Given the description of an element on the screen output the (x, y) to click on. 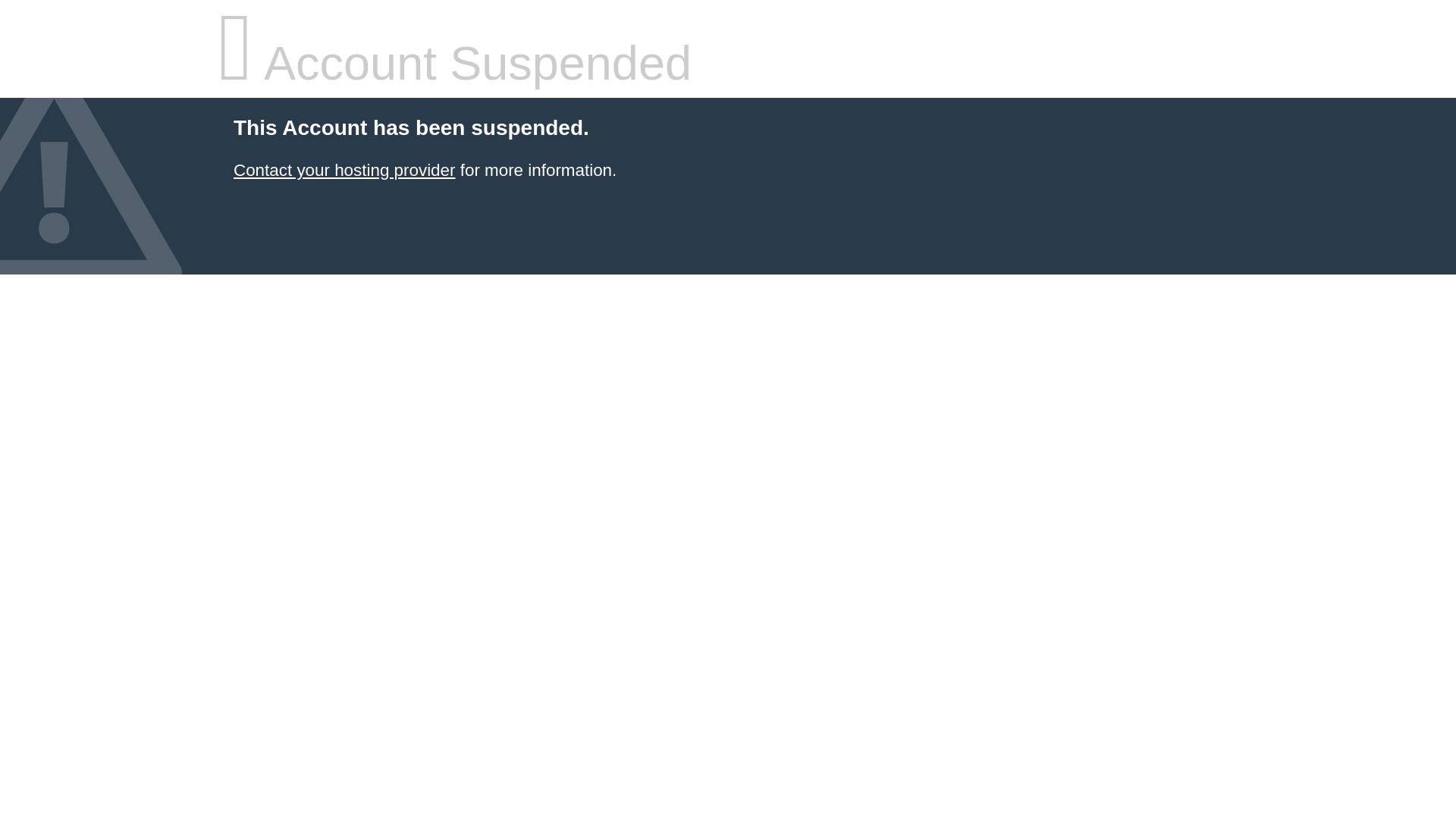
Contact your hosting provider (343, 169)
